Given the description of an element on the screen output the (x, y) to click on. 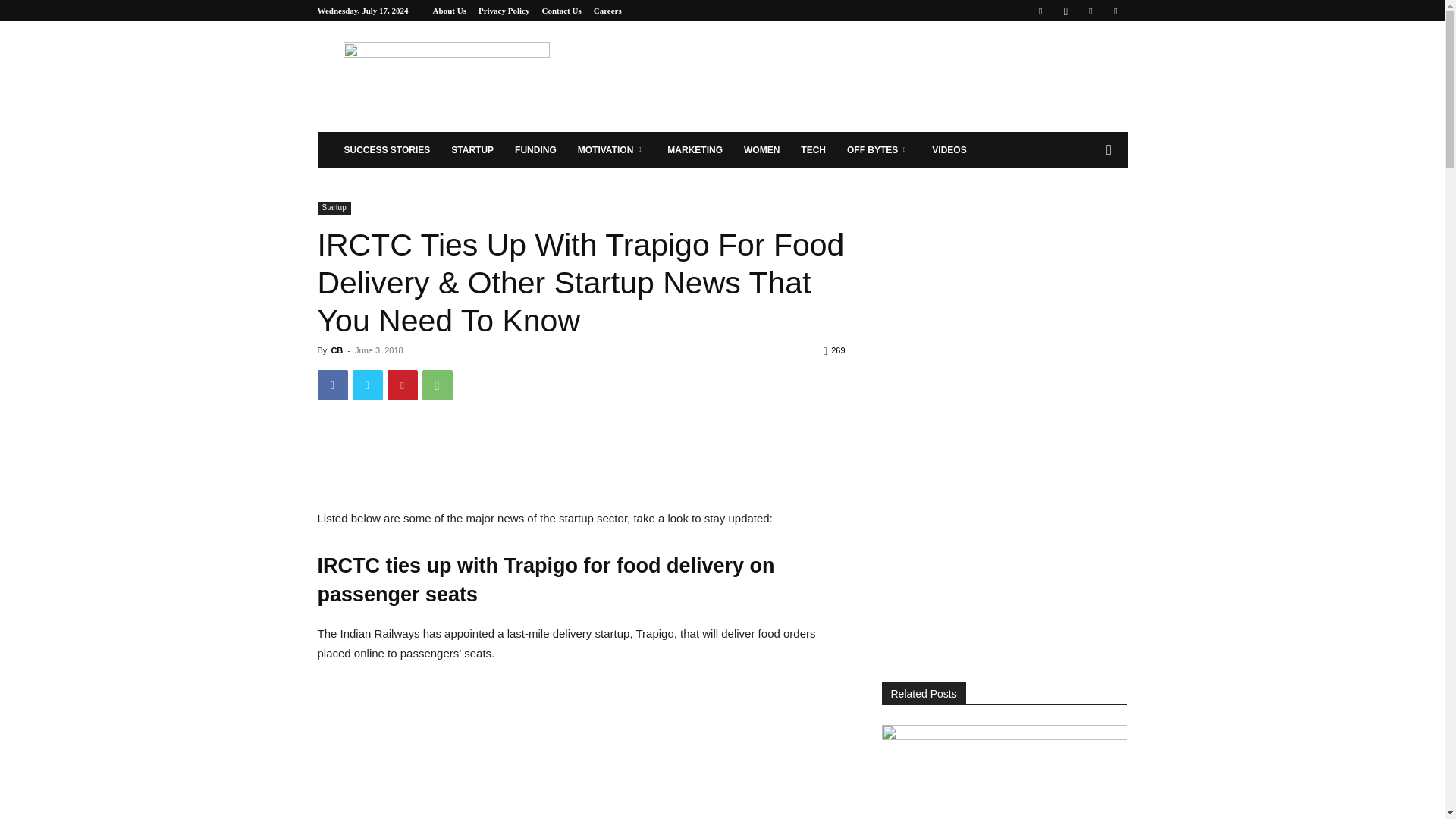
Twitter (1114, 10)
STARTUP (472, 149)
Twitter (366, 385)
Advertisement (593, 462)
Facebook (332, 385)
WOMEN (761, 149)
Facebook (1040, 10)
Advertisement (580, 748)
SUCCESS STORIES (387, 149)
Contact Us (560, 10)
Pinterest (401, 385)
FUNDING (535, 149)
Instagram (1065, 10)
Pinterest (1090, 10)
Privacy Policy (504, 10)
